Given the description of an element on the screen output the (x, y) to click on. 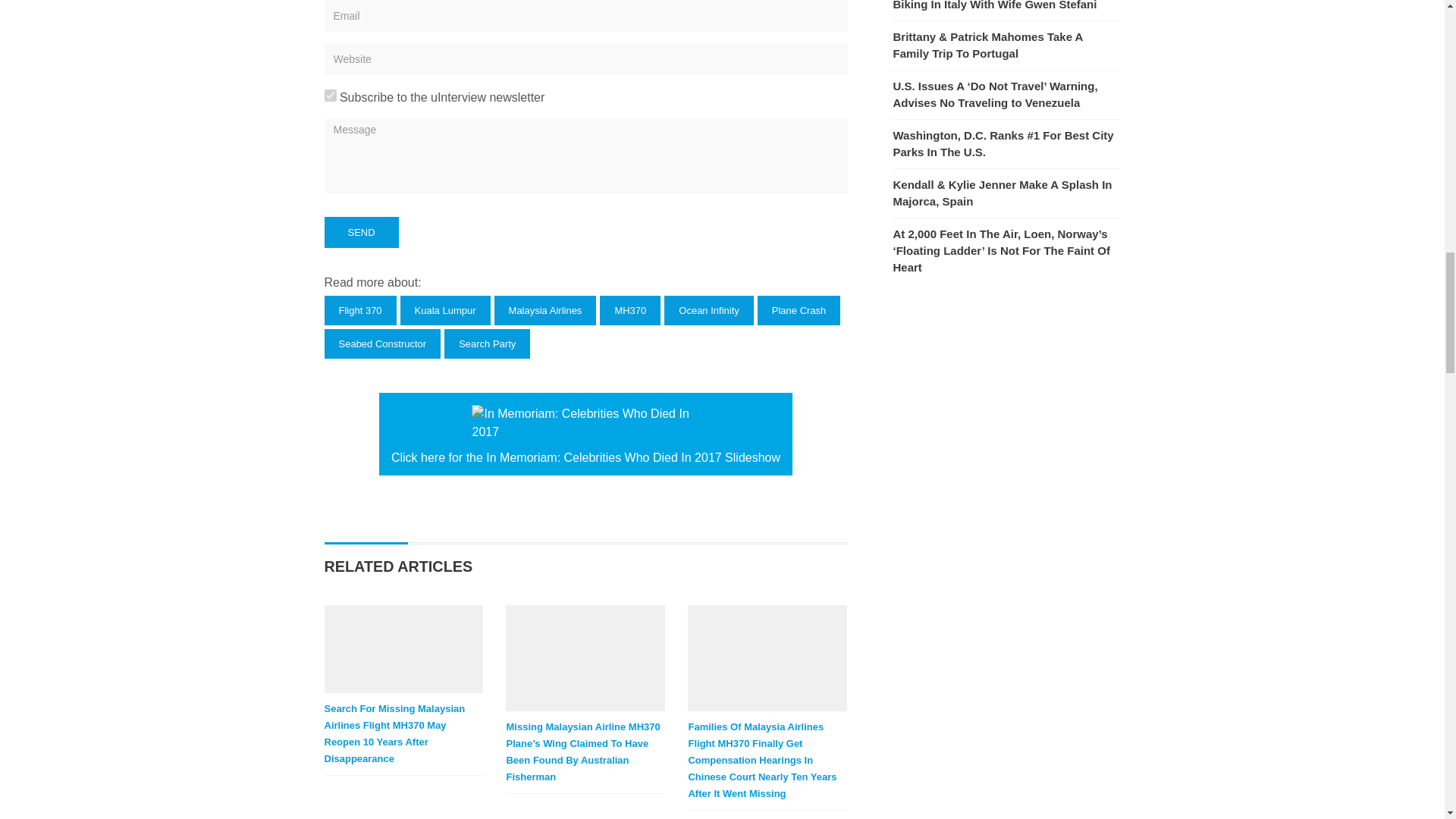
Flight 370 (360, 310)
MH370 (630, 310)
Malaysia Airlines (545, 310)
Send (361, 232)
Send (361, 232)
Ocean Infinity (708, 310)
Kuala Lumpur (445, 310)
on (330, 95)
